Given the description of an element on the screen output the (x, y) to click on. 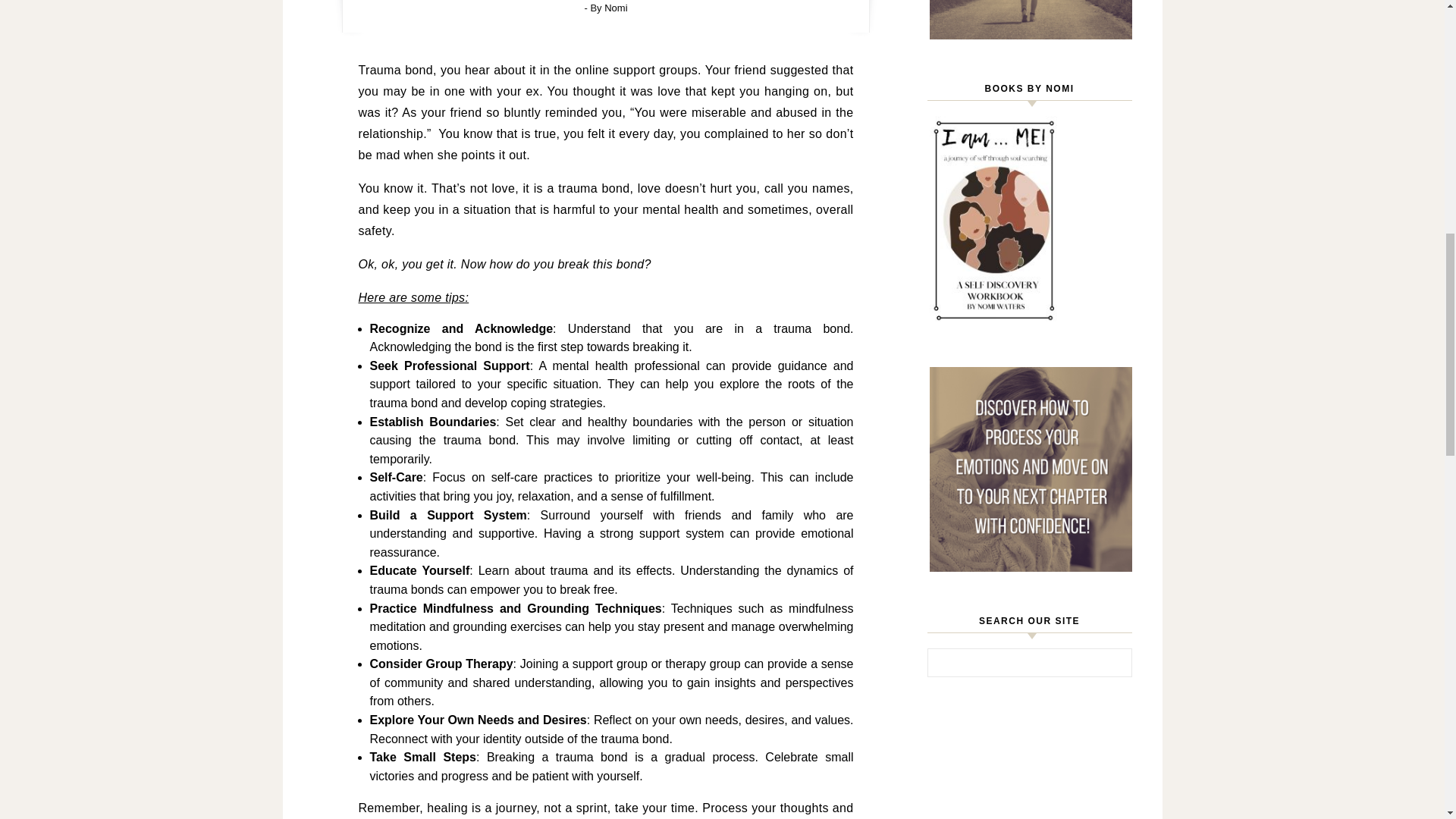
Nomi (615, 7)
Posts by Nomi (615, 7)
